Given the description of an element on the screen output the (x, y) to click on. 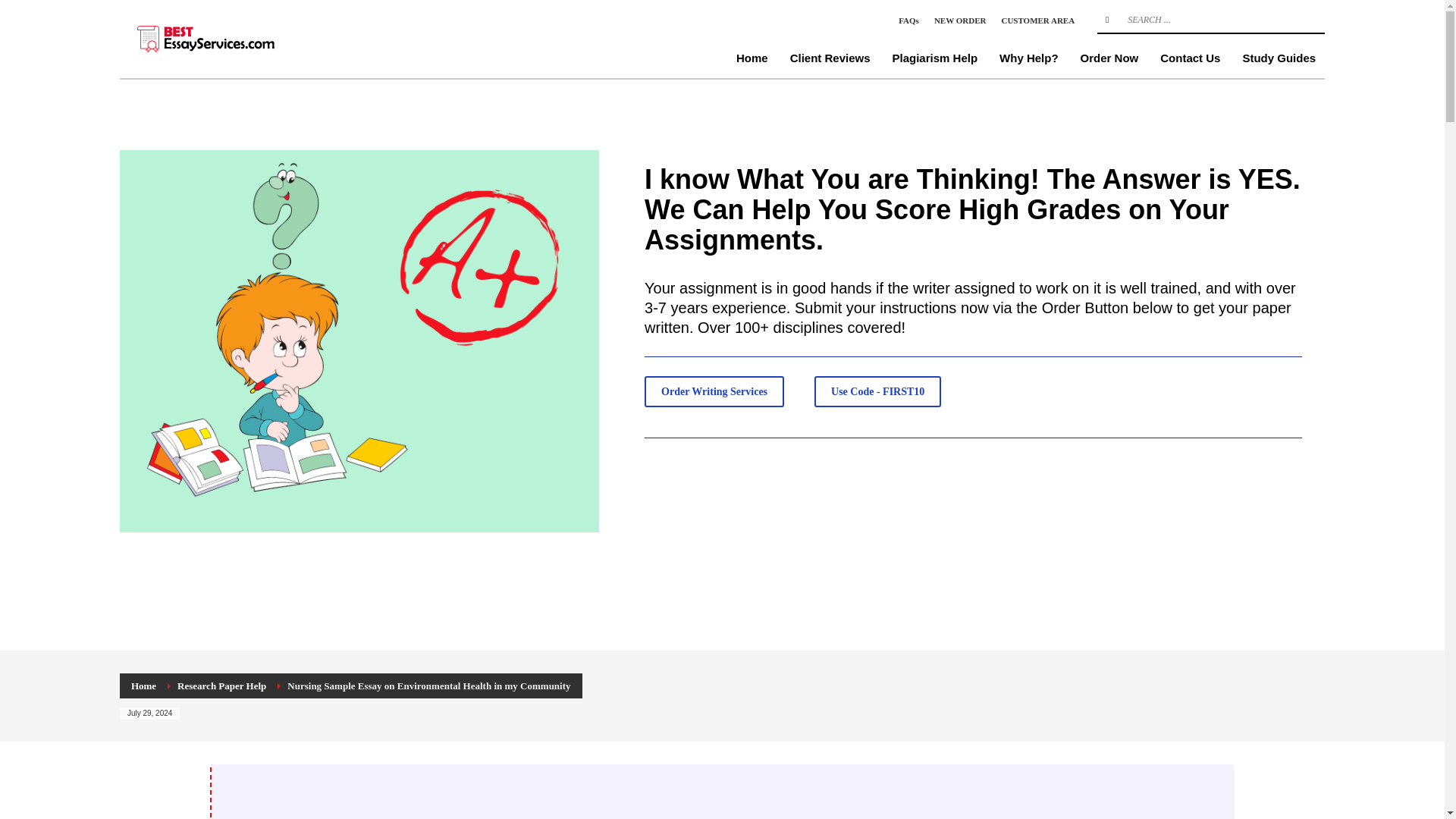
Order Writing Services (714, 391)
Research Paper Help (221, 685)
Why Help? (1028, 57)
Home (751, 57)
Order Now (1109, 57)
Plagiarism Help (935, 57)
CUSTOMER AREA (1037, 20)
Homework Help (233, 37)
Home (143, 685)
Use Code - FIRST10 (876, 391)
Client Reviews (829, 57)
FAQs (908, 20)
Contact Us (1189, 57)
